Given the description of an element on the screen output the (x, y) to click on. 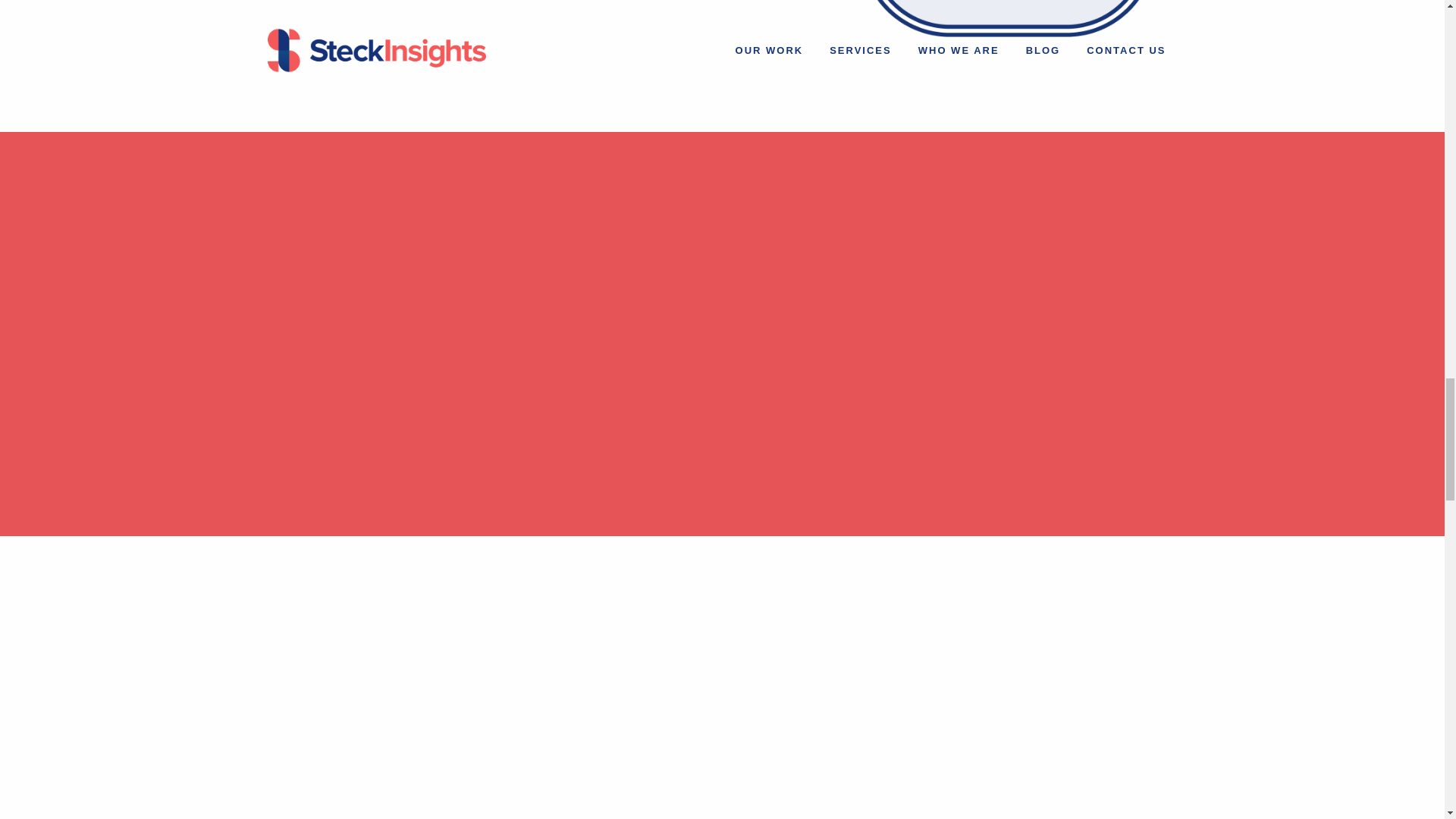
MAKE AN IMPRESSION (355, 11)
